Given the description of an element on the screen output the (x, y) to click on. 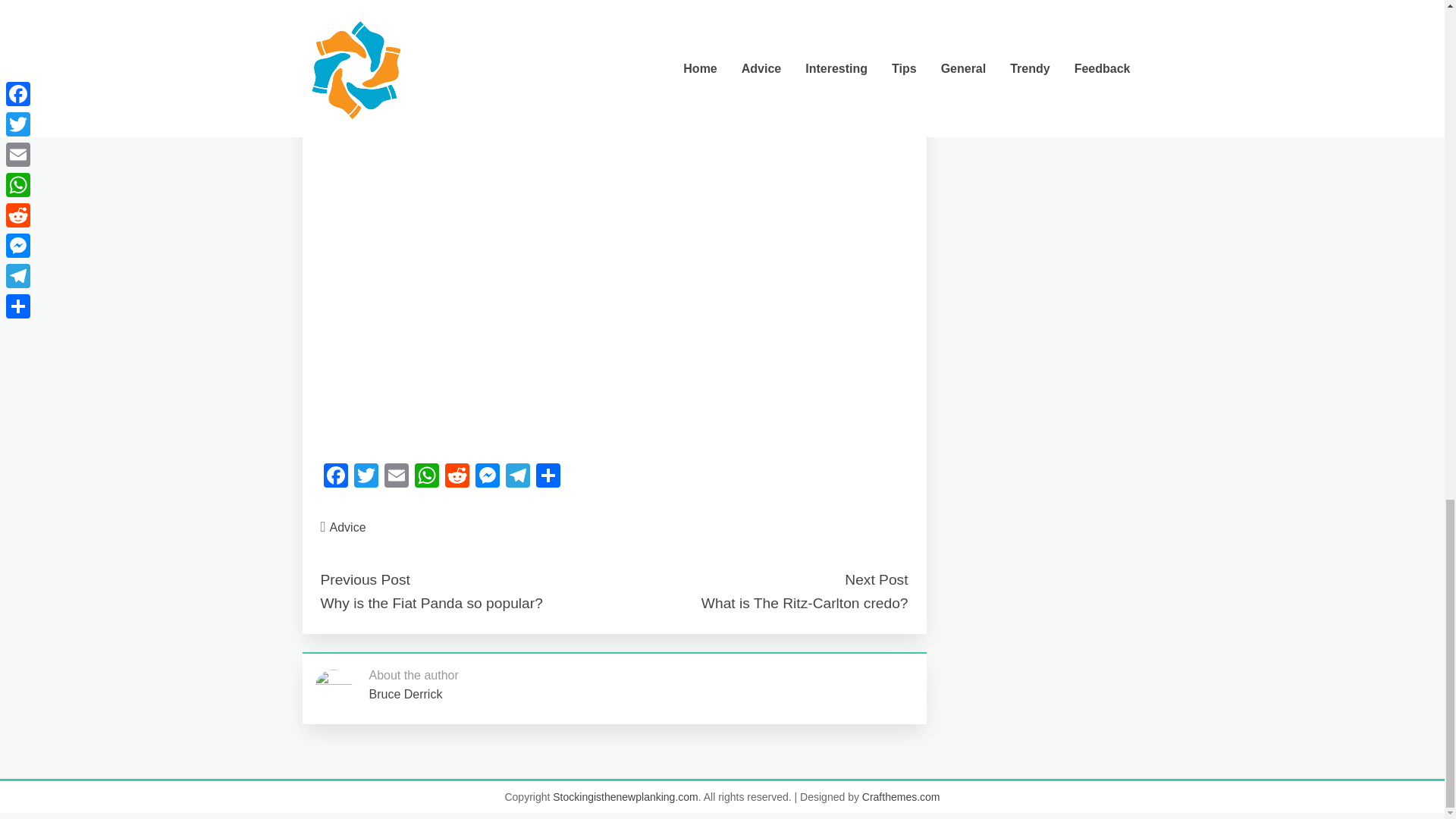
Messenger (486, 477)
Previous Post (364, 579)
Messenger (486, 477)
Advice (348, 526)
WhatsApp (425, 477)
Next Post (875, 579)
Reddit (456, 477)
Facebook (335, 477)
Twitter (365, 477)
What is The Ritz-Carlton credo? (804, 602)
Bruce Derrick (405, 694)
Reddit (456, 477)
Telegram (517, 477)
Twitter (365, 477)
